Given the description of an element on the screen output the (x, y) to click on. 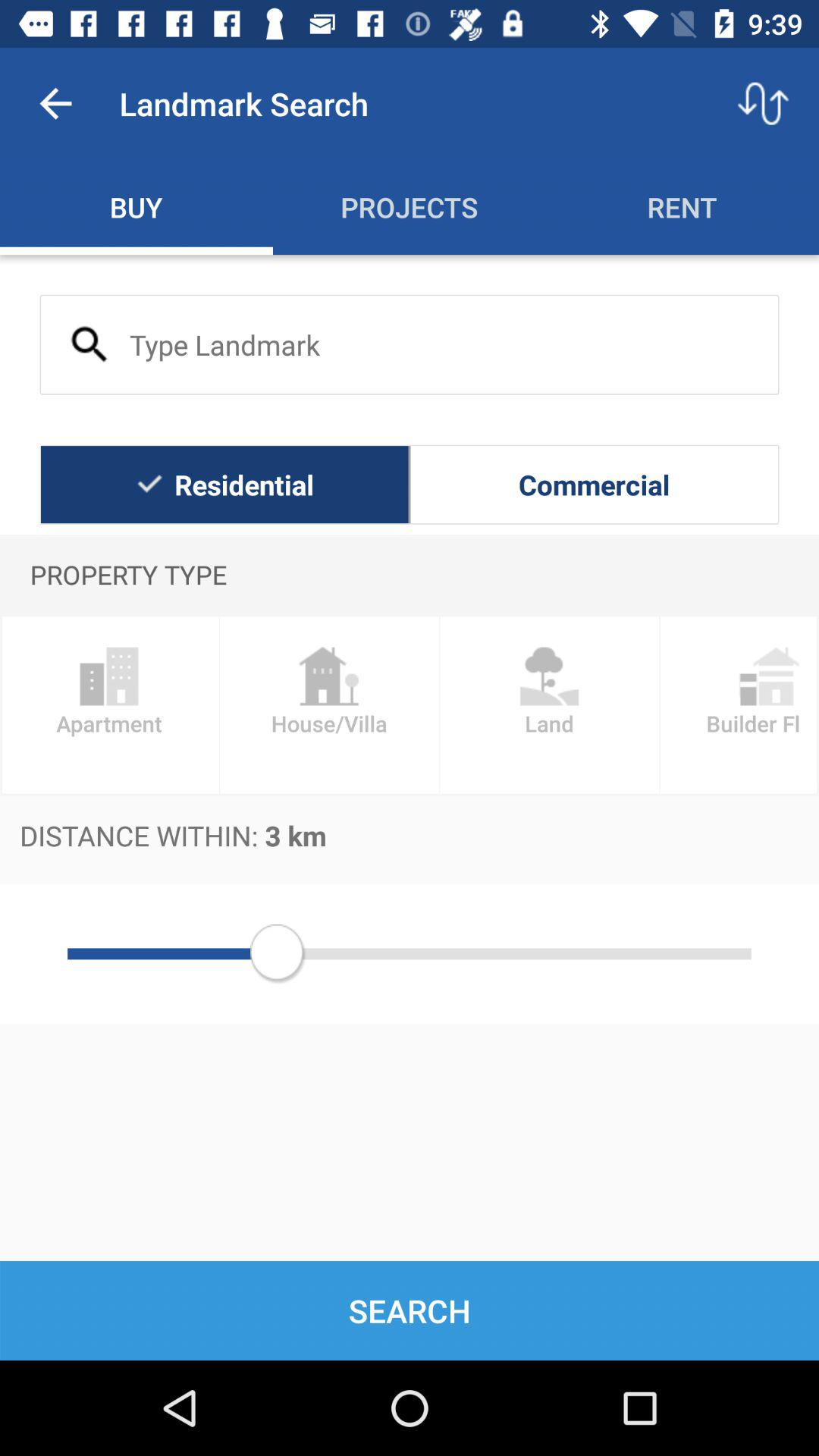
scroll to industrial land item (549, 704)
